Given the description of an element on the screen output the (x, y) to click on. 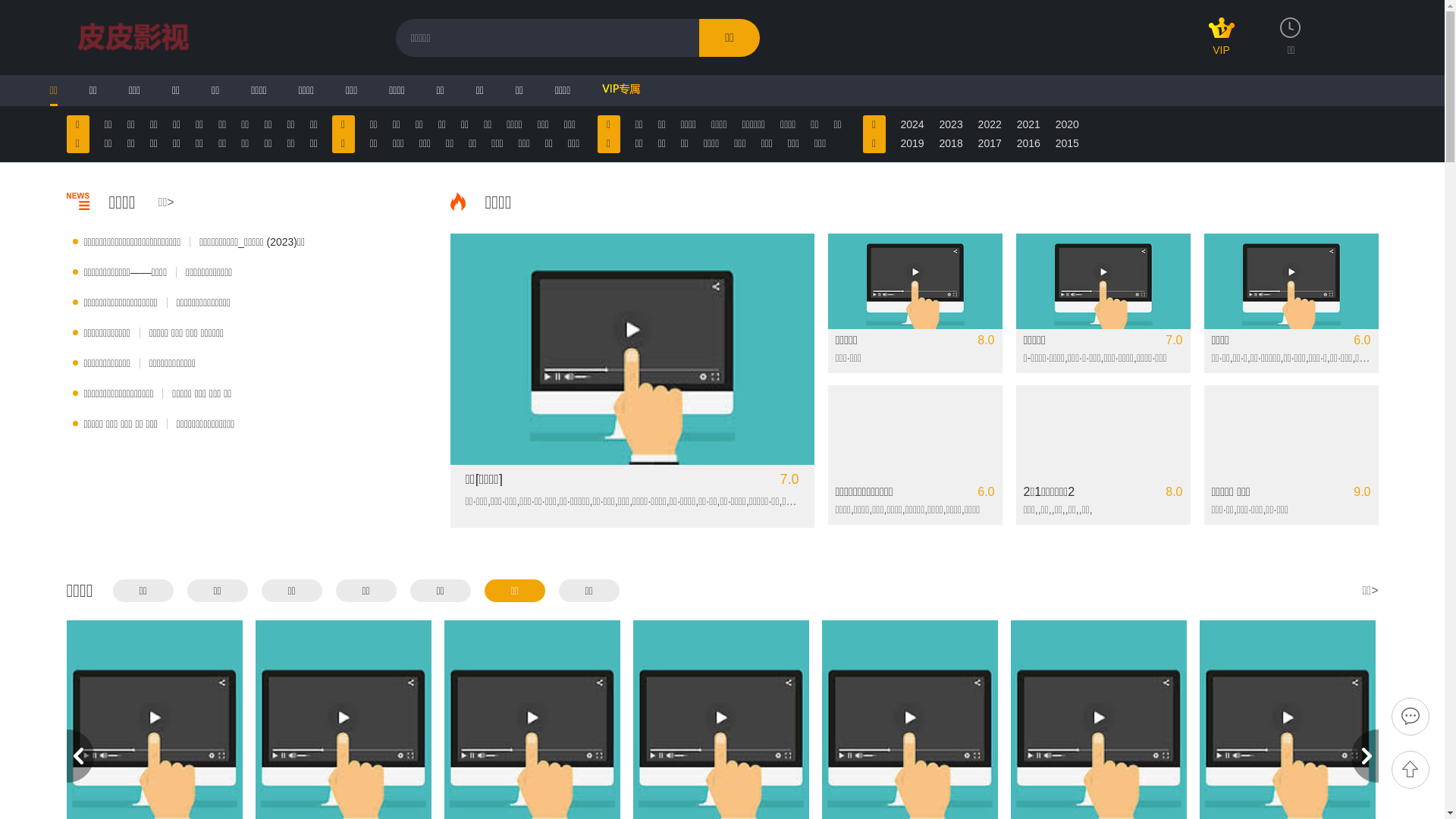
2016 Element type: text (1028, 143)
VIP Element type: text (1221, 43)
2024 Element type: text (912, 124)
2017 Element type: text (989, 143)
2021 Element type: text (1028, 124)
2023 Element type: text (951, 124)
2020 Element type: text (1067, 124)
2019 Element type: text (912, 143)
2022 Element type: text (989, 124)
2018 Element type: text (951, 143)
2015 Element type: text (1067, 143)
